Given the description of an element on the screen output the (x, y) to click on. 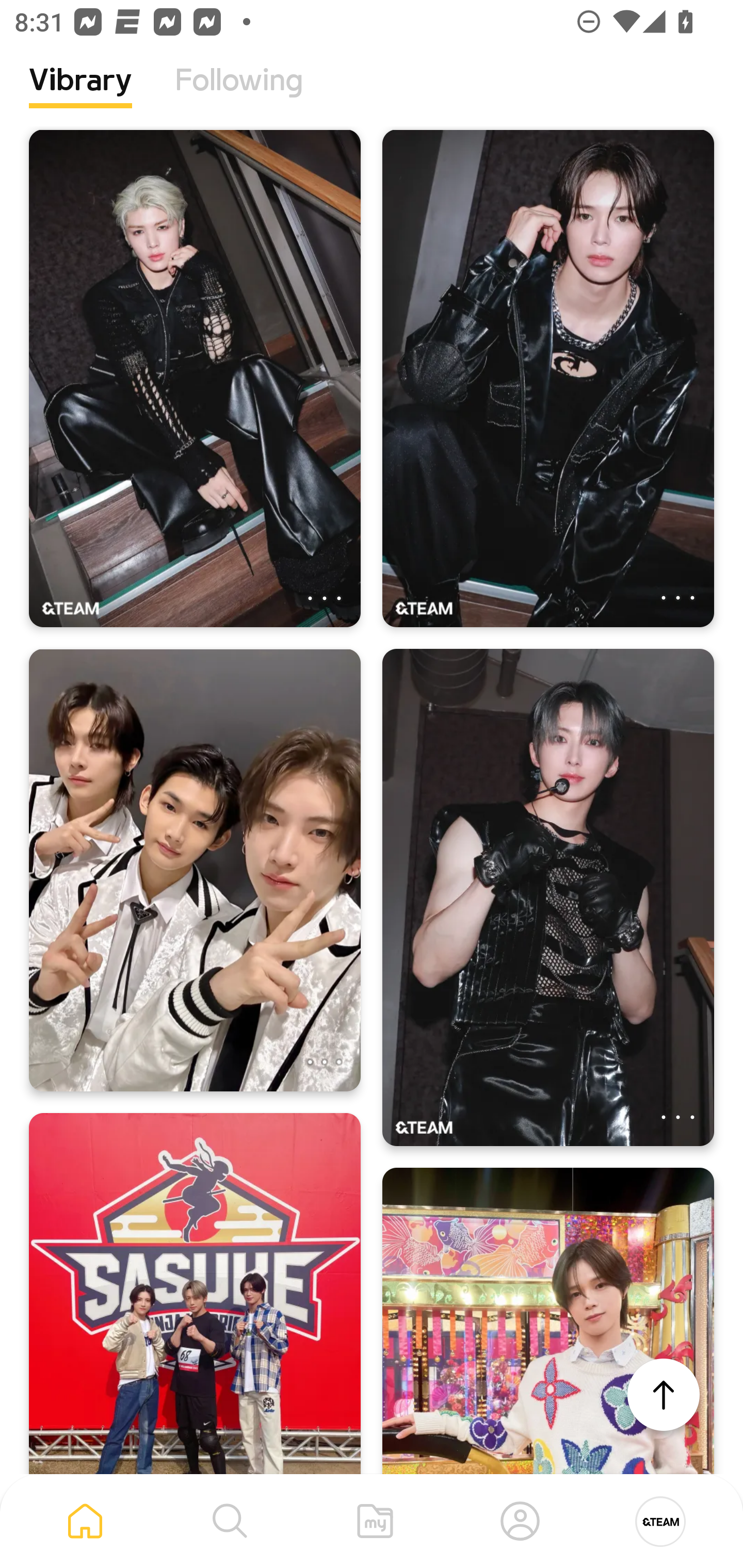
Vibrary (80, 95)
Following (239, 95)
